Given the description of an element on the screen output the (x, y) to click on. 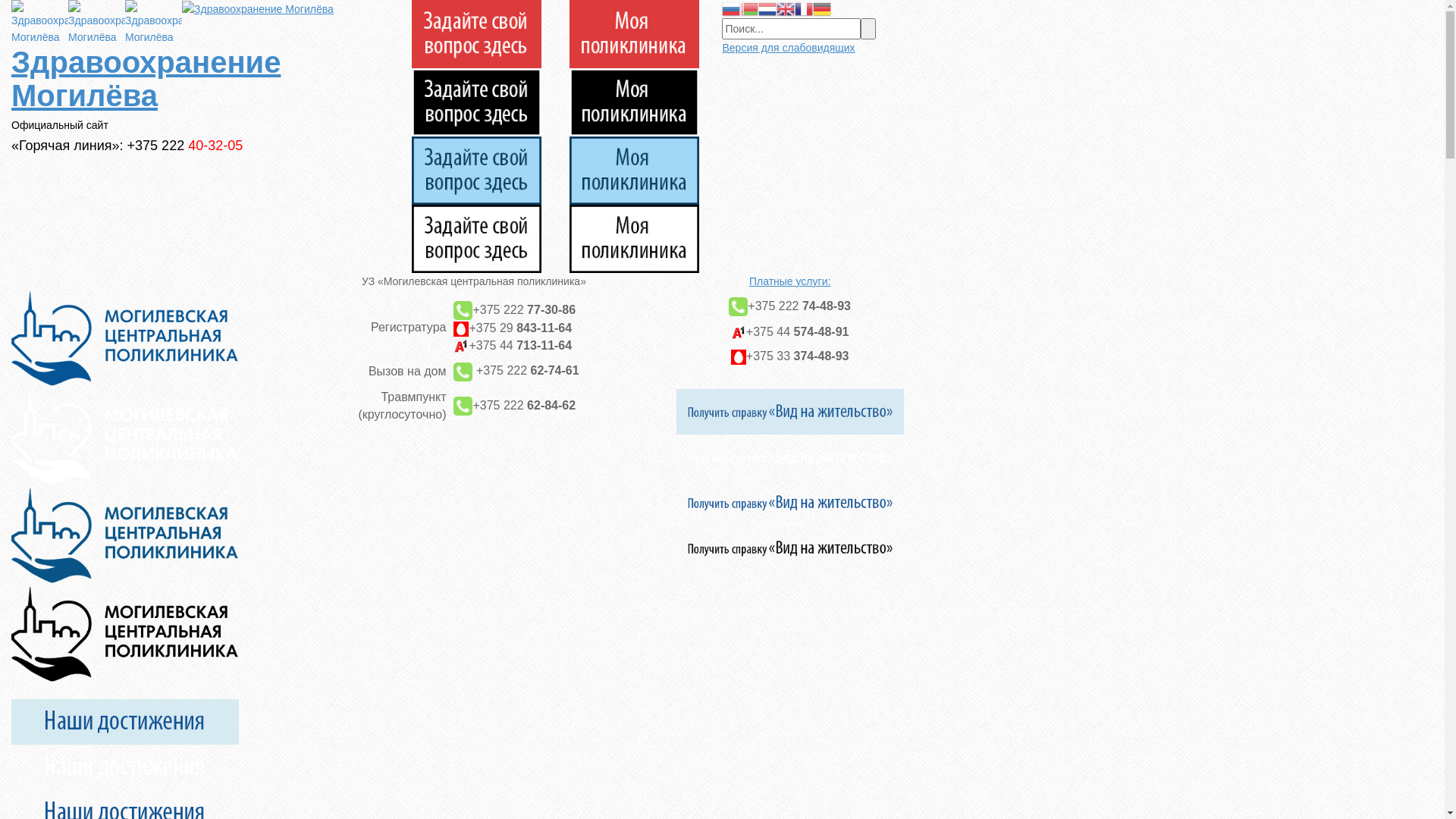
Russian Element type: hover (730, 8)
French Element type: hover (803, 8)
German Element type: hover (821, 8)
English Element type: hover (785, 8)
Dutch Element type: hover (767, 8)
Belarusian Element type: hover (749, 8)
